Given the description of an element on the screen output the (x, y) to click on. 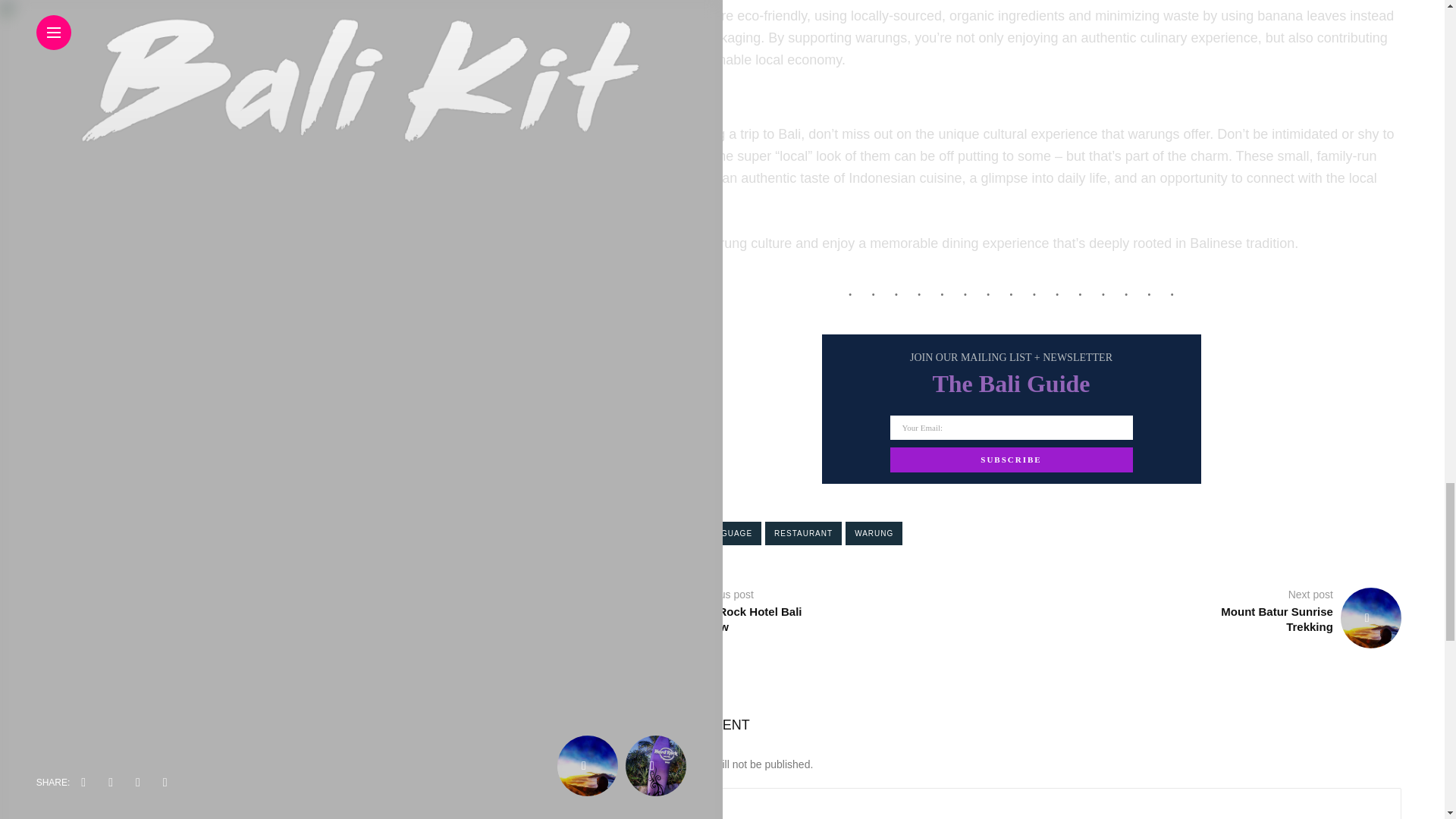
RESTAURANT (803, 533)
WARUNG (873, 533)
SUBSCRIBE (1010, 459)
SUBSCRIBE (1010, 459)
BALI SLANG (655, 533)
LANGUAGE (727, 533)
